Given the description of an element on the screen output the (x, y) to click on. 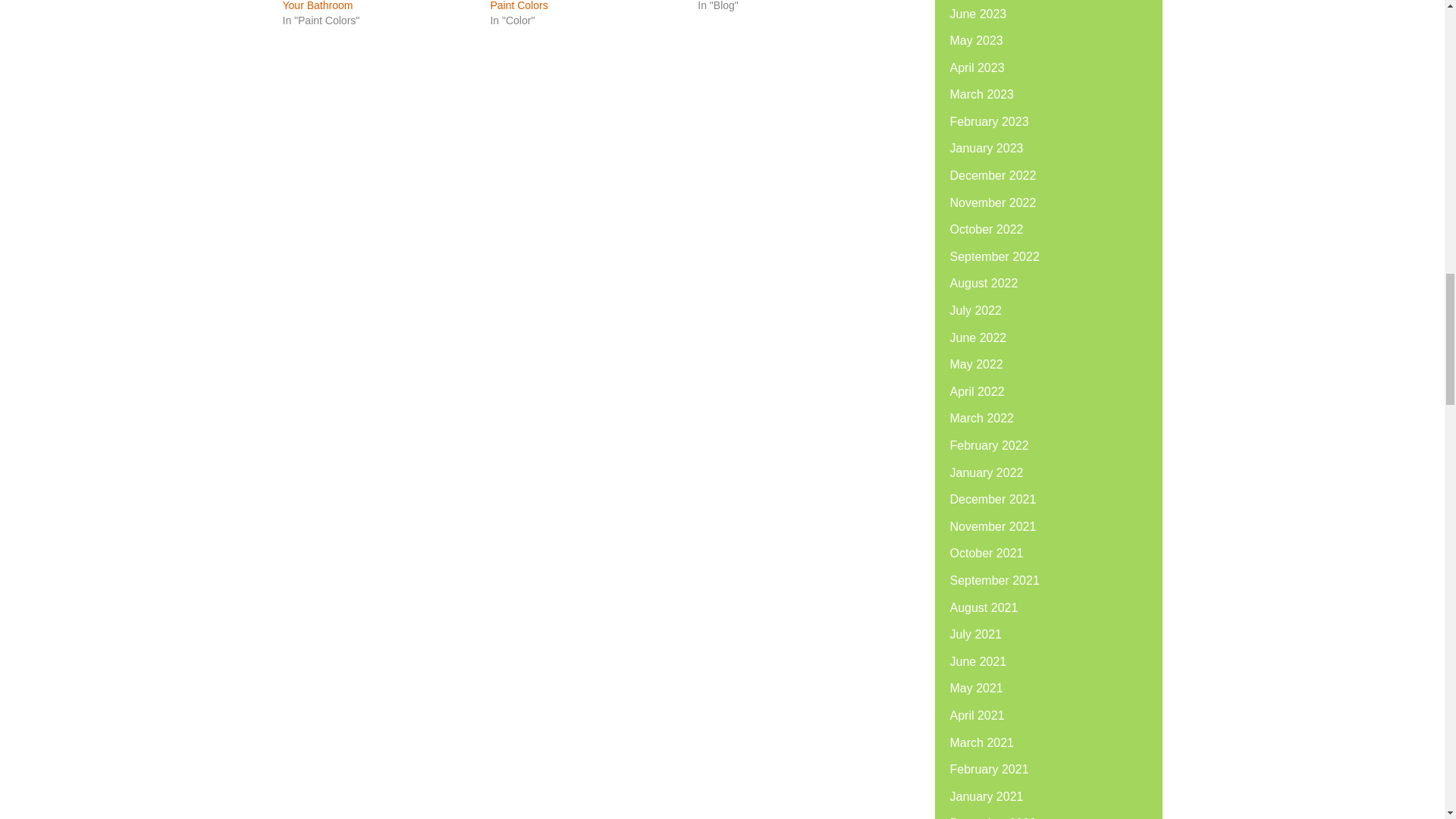
Time-Tested and Iconic Paint Colors for Your Bathroom (374, 5)
How to Choose the Best Bathroom Paint Colors (571, 5)
